Given the description of an element on the screen output the (x, y) to click on. 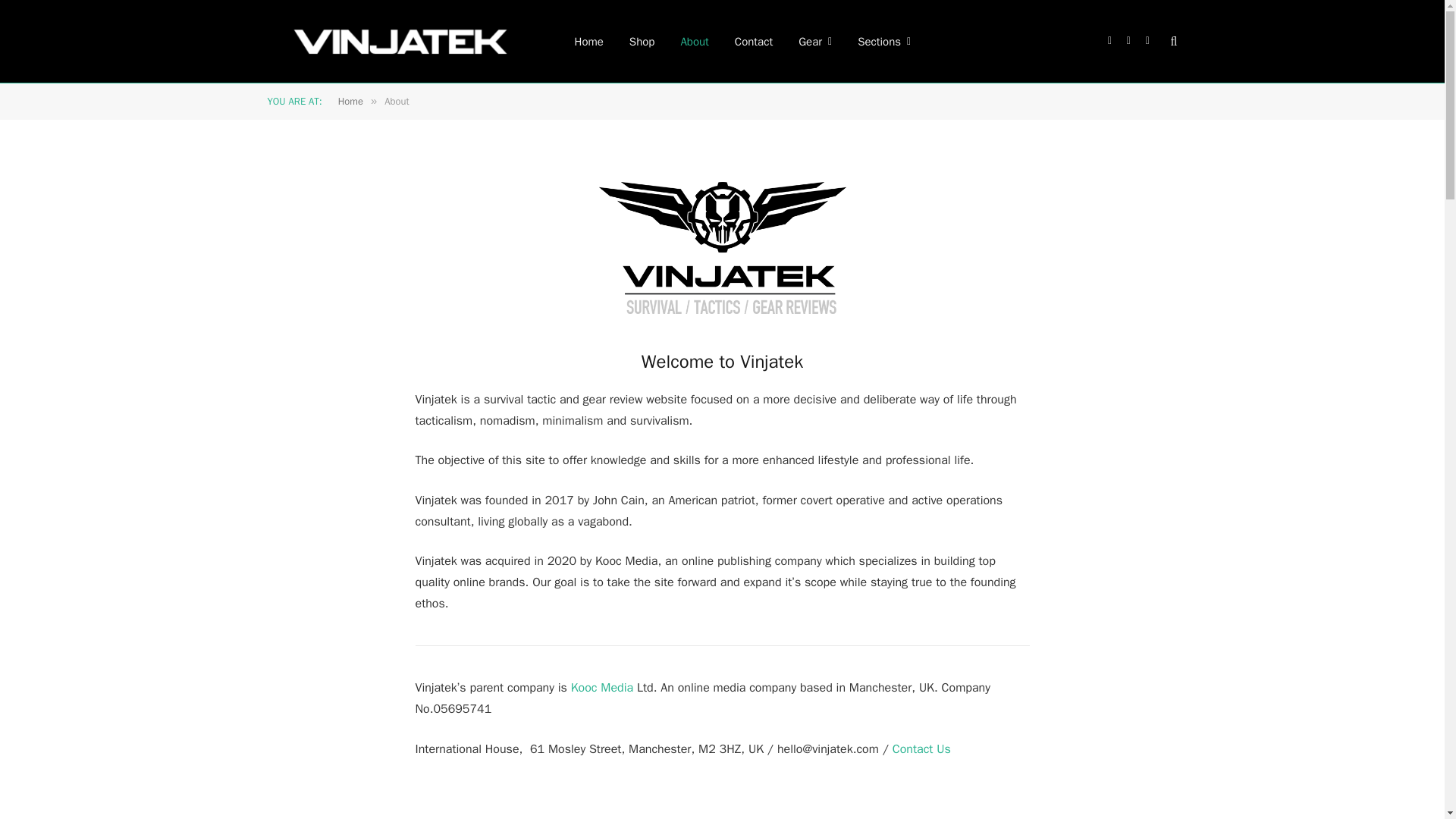
Vinjatek (400, 41)
Home (587, 41)
About (693, 41)
Contact (754, 41)
Search (1172, 41)
Gear (815, 41)
Shop (641, 41)
Sections (883, 41)
